Given the description of an element on the screen output the (x, y) to click on. 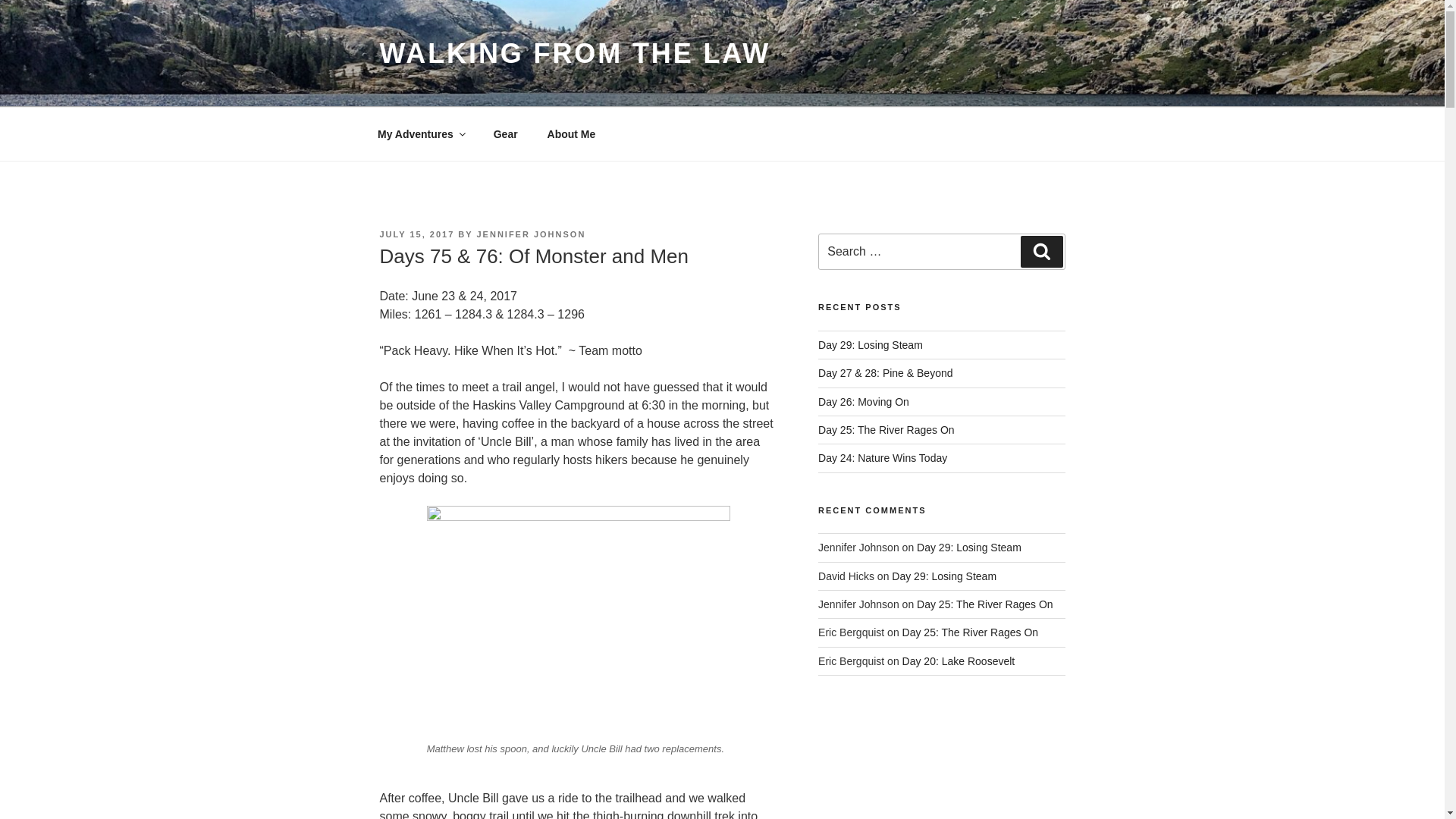
Day 29: Losing Steam (969, 547)
Day 25: The River Rages On (970, 632)
Day 25: The River Rages On (984, 604)
JENNIFER JOHNSON (530, 234)
Day 29: Losing Steam (943, 576)
WALKING FROM THE LAW (574, 52)
Day 24: Nature Wins Today (882, 458)
About Me (571, 133)
JULY 15, 2017 (416, 234)
Gear (505, 133)
Day 25: The River Rages On (886, 429)
Search (1041, 251)
My Adventures (420, 133)
Day 26: Moving On (863, 401)
Day 29: Losing Steam (870, 345)
